Given the description of an element on the screen output the (x, y) to click on. 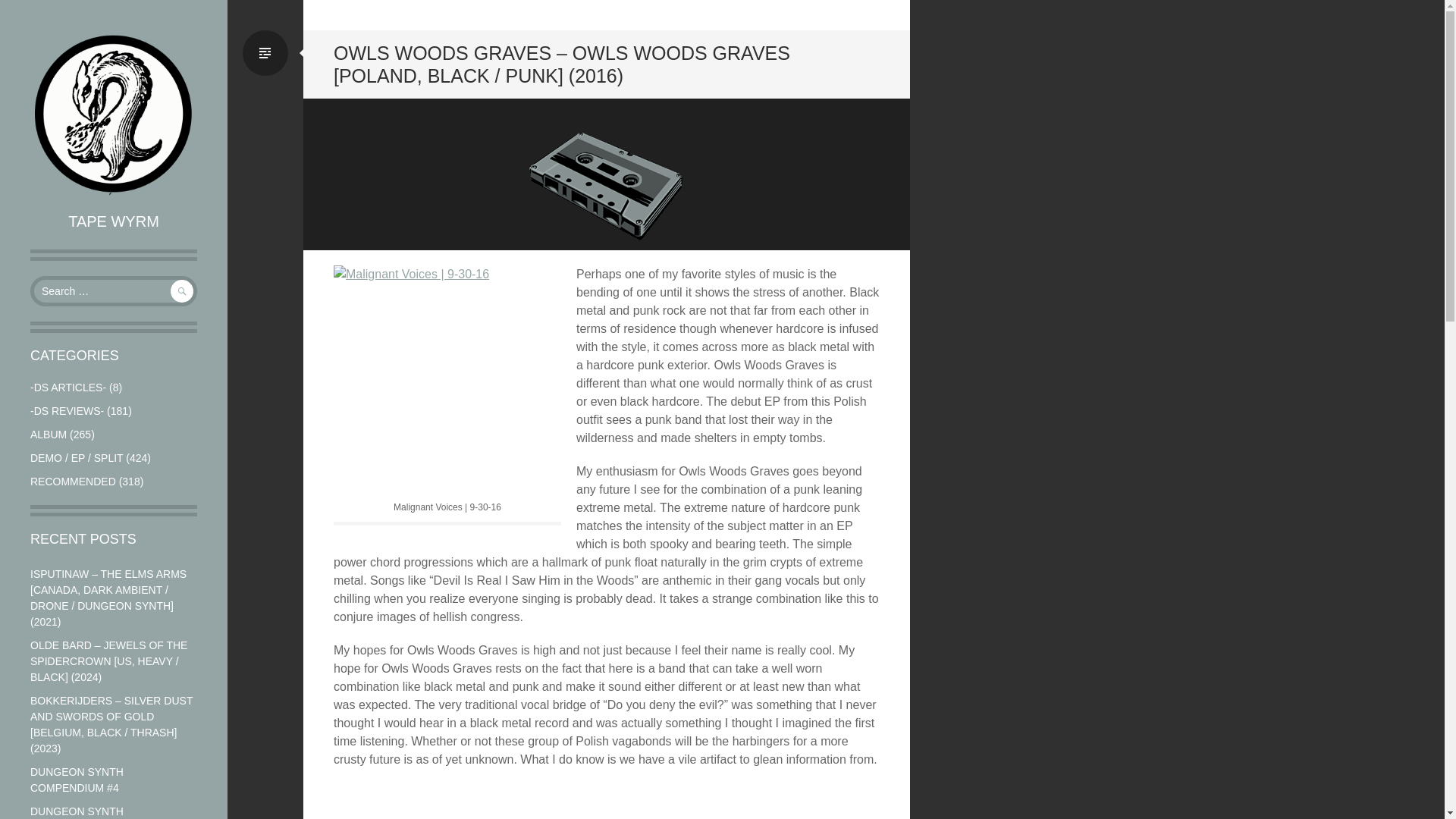
Tape Wyrm (113, 221)
-DS REVIEWS- (66, 410)
Search for: (113, 291)
Tape Wyrm (113, 113)
ALBUM (48, 434)
TAPE WYRM (113, 221)
-DS ARTICLES- (68, 387)
RECOMMENDED (73, 481)
